Given the description of an element on the screen output the (x, y) to click on. 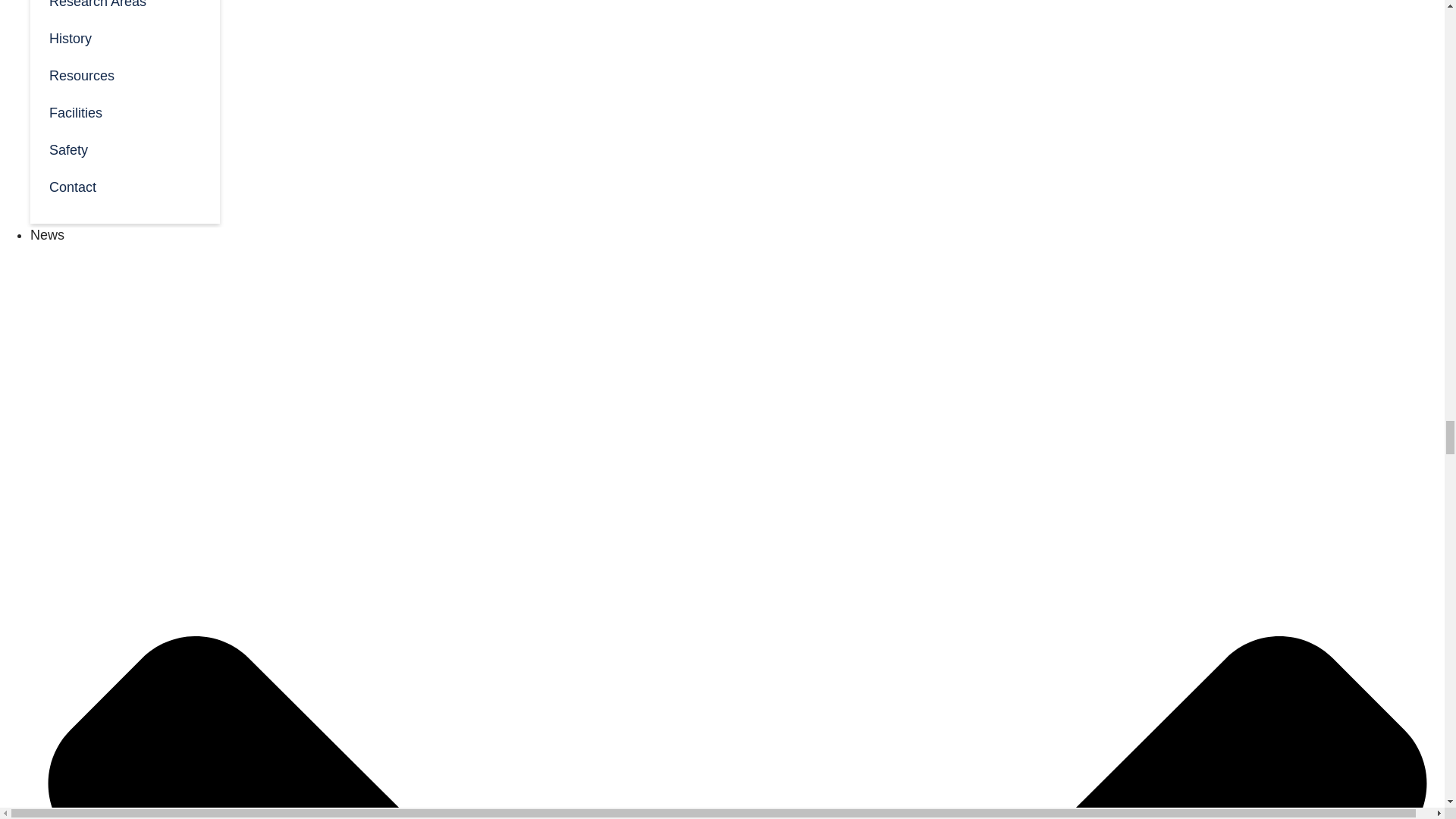
Contact (125, 185)
Facilities (125, 111)
Safety (125, 148)
Research Areas (125, 9)
Resources (125, 74)
News (47, 234)
History (125, 37)
